Given the description of an element on the screen output the (x, y) to click on. 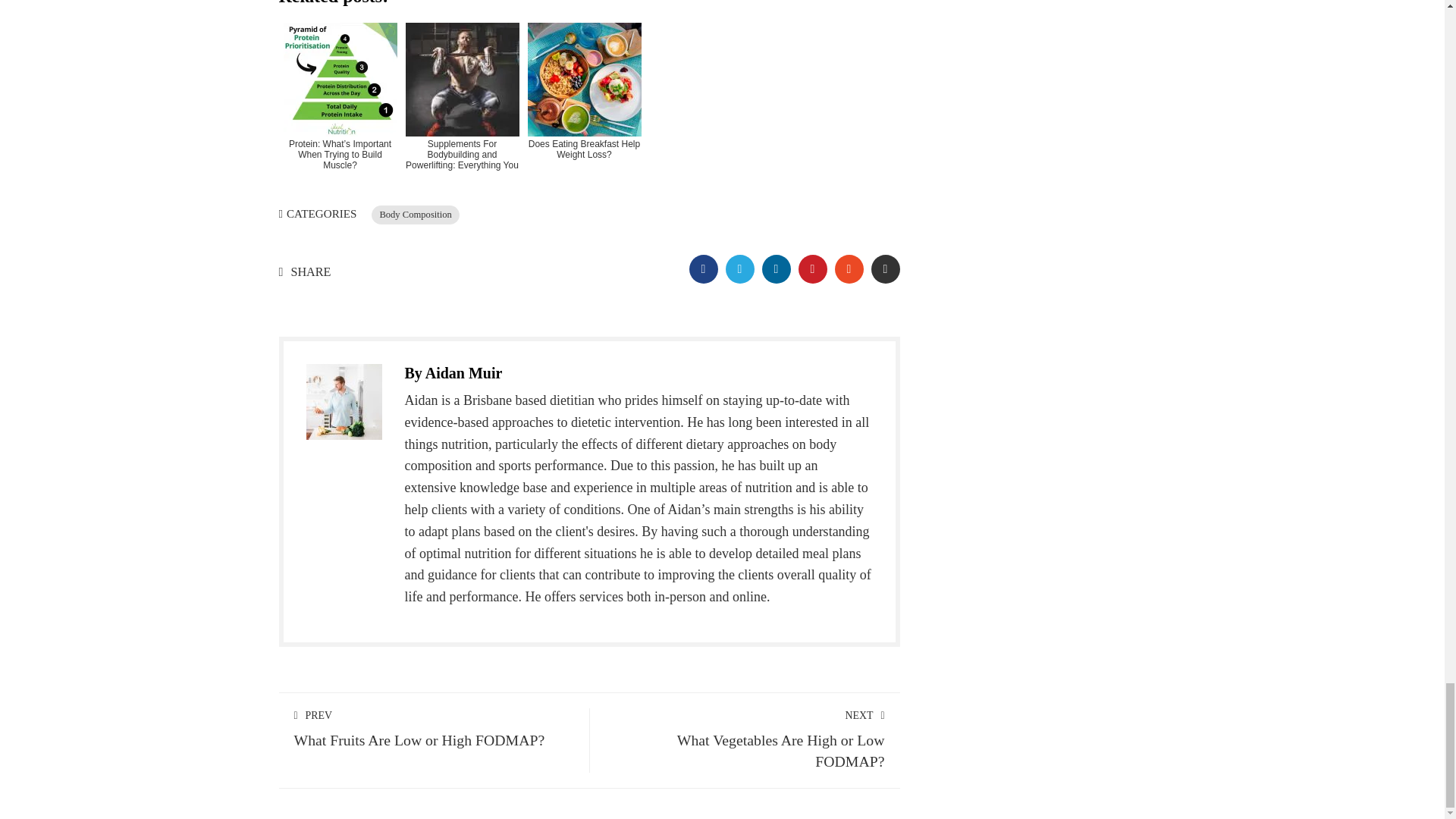
FACEBOOK (702, 268)
TWITTER (739, 268)
LINKEDIN (745, 738)
EMAIL (775, 268)
Body Composition (884, 268)
PINTEREST (415, 214)
STUMBLEUPON (812, 268)
